Given the description of an element on the screen output the (x, y) to click on. 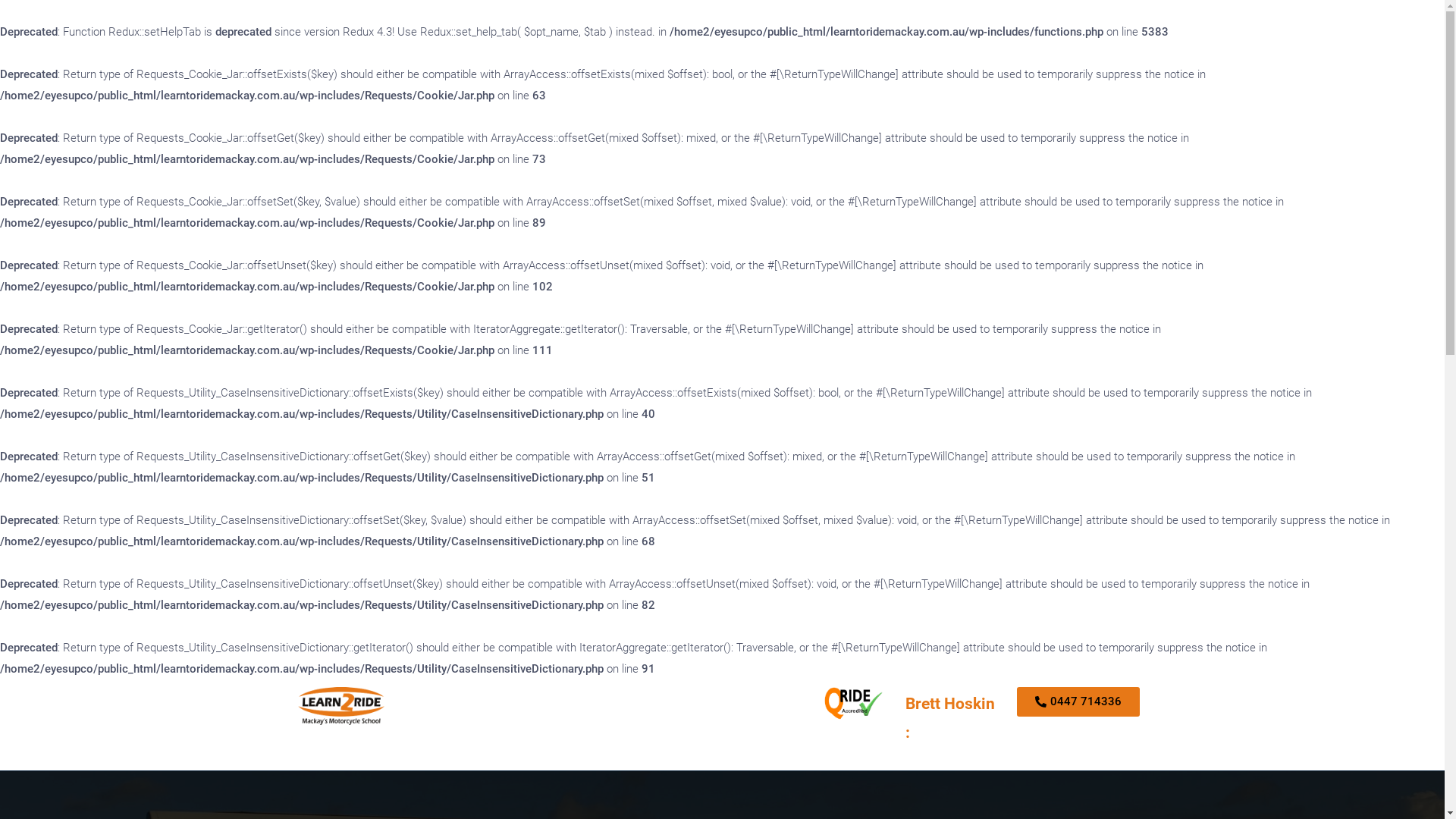
0447 714336 Element type: text (1077, 701)
